Given the description of an element on the screen output the (x, y) to click on. 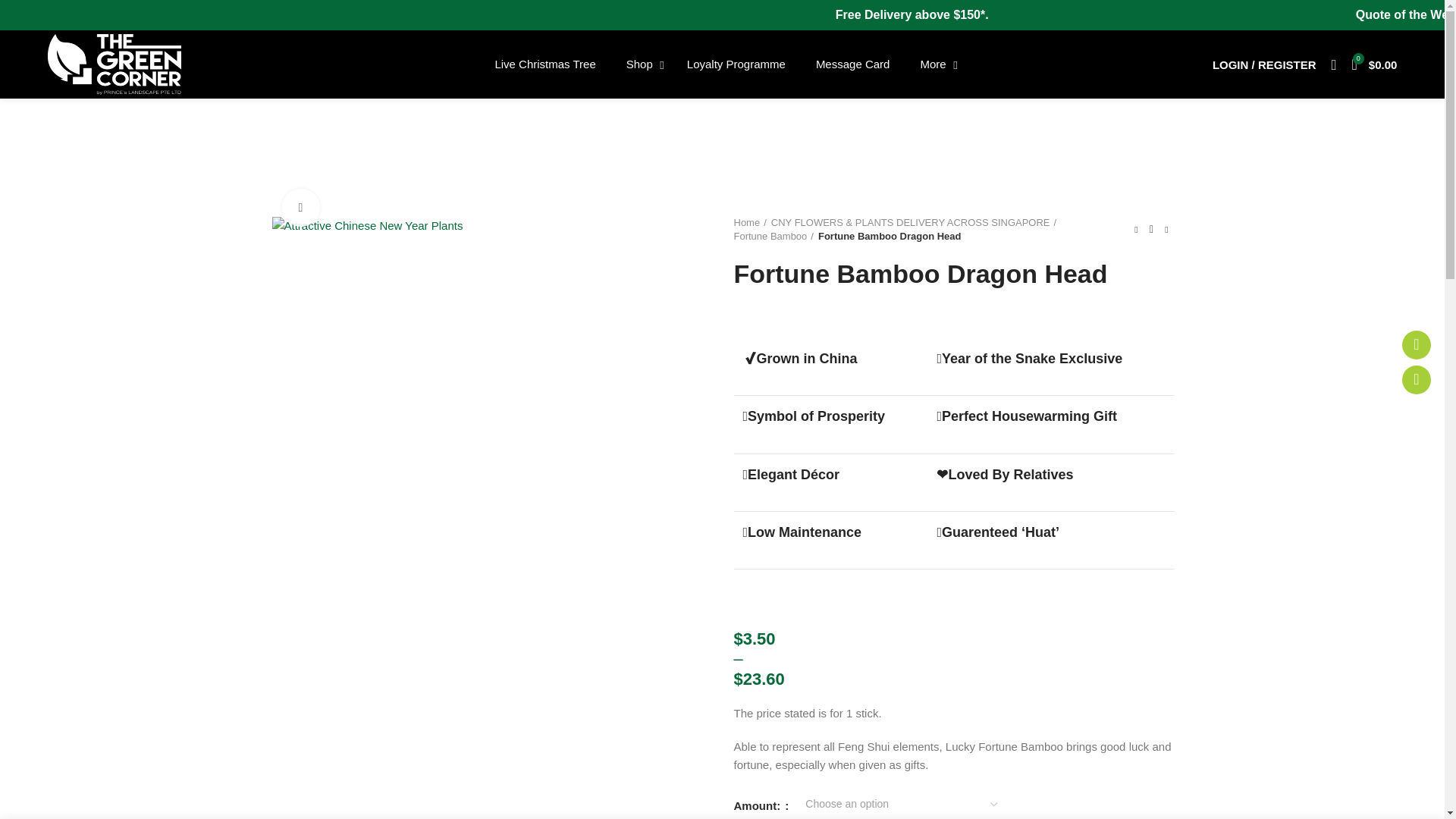
Live Christmas Tree (544, 64)
Shopping cart (722, 64)
Fortune Bamboo Dragon Head 50cmWatermarked (1374, 64)
My account (366, 226)
